Given the description of an element on the screen output the (x, y) to click on. 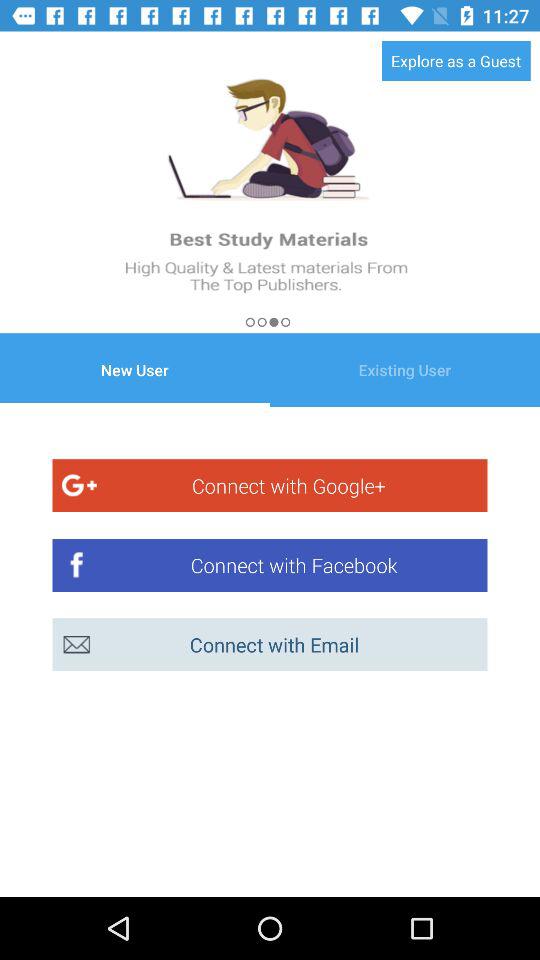
swipe until the explore as a (455, 60)
